Given the description of an element on the screen output the (x, y) to click on. 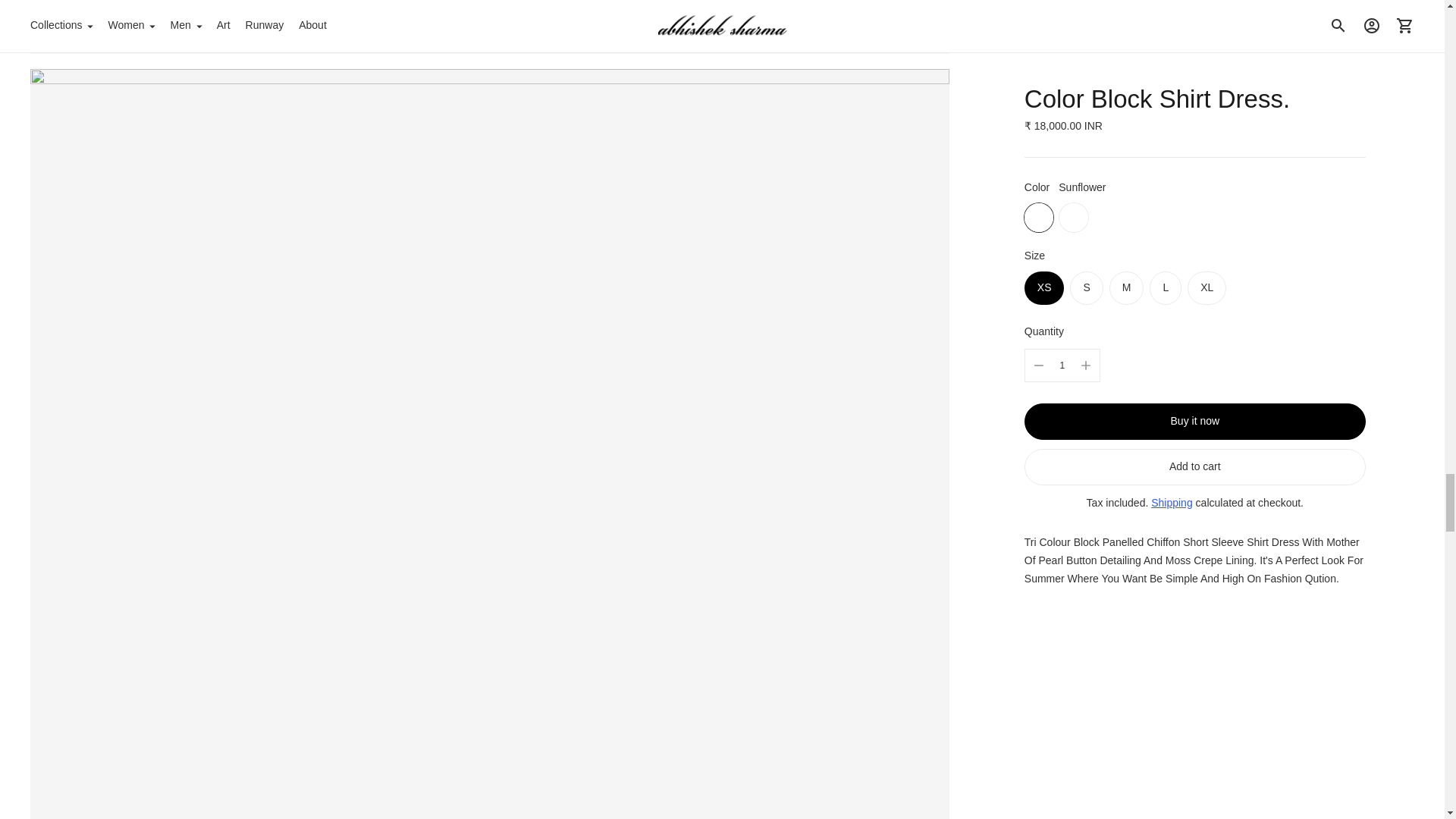
Open Image (489, 27)
